Given the description of an element on the screen output the (x, y) to click on. 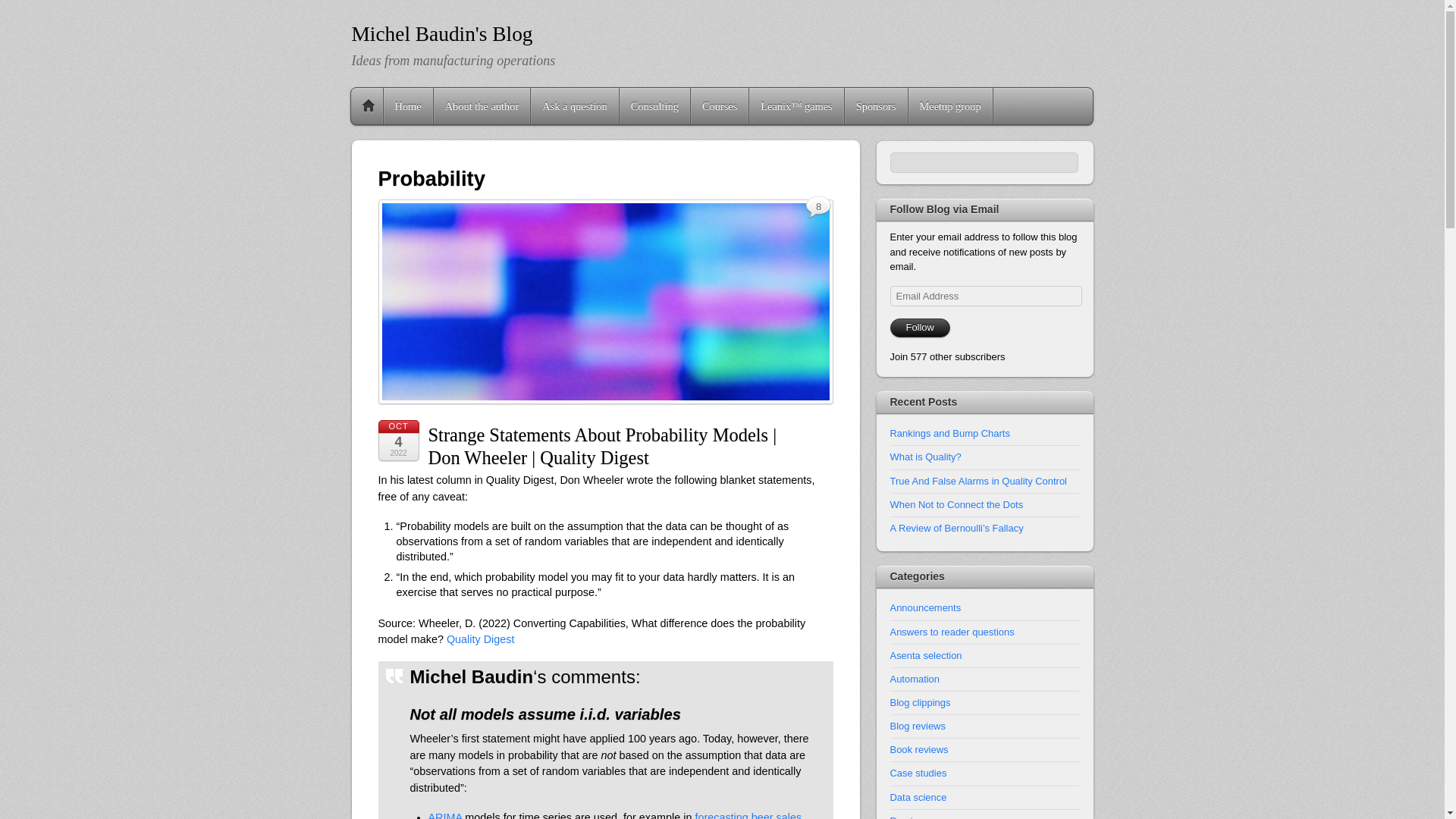
Sponsors (875, 105)
Consulting (655, 105)
Ask a question (574, 105)
8 (818, 208)
Home (408, 105)
About the author (482, 105)
Quality Digest (480, 639)
Michel Baudin's Blog (442, 33)
Meetup group (950, 105)
Michel Baudin's Blog (442, 33)
